Given the description of an element on the screen output the (x, y) to click on. 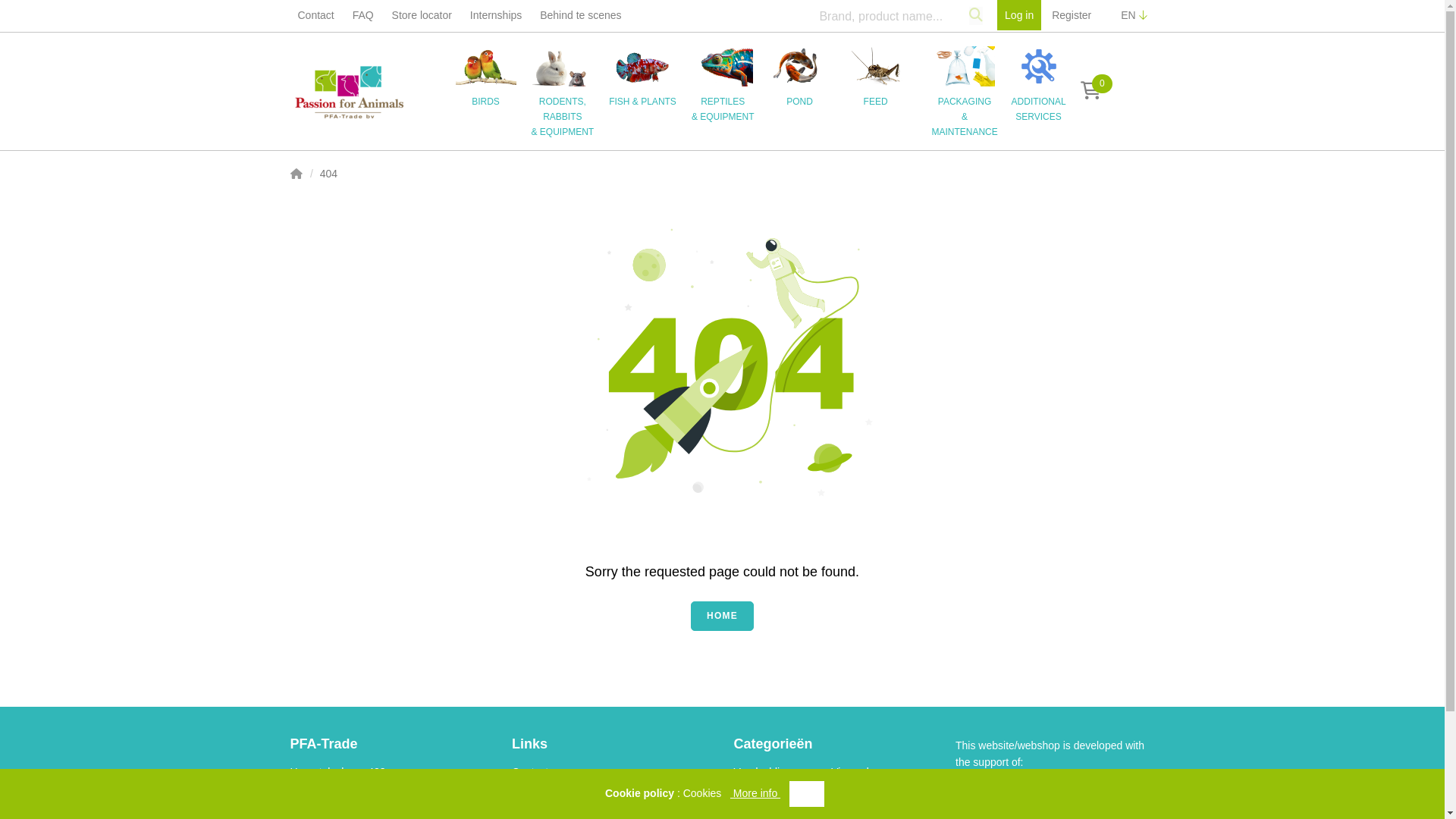
Vogels Element type: text (846, 805)
BIRDS Element type: text (492, 75)
Store locator Element type: text (421, 15)
Behind te scenes Element type: text (580, 15)
More info Element type: text (755, 793)
RODENTS,
RABBITS
& EQUIPMENT Element type: text (569, 90)
PACKAGING
& MAINTENANCE Element type: text (961, 87)
FISH & PLANTS Element type: text (649, 75)
Visvoeders Element type: text (857, 771)
Internships Element type: text (495, 15)
Waterplanten Element type: text (765, 788)
ADDITIONAL
SERVICES Element type: text (1035, 79)
EN Element type: text (1133, 15)
Contact Element type: text (315, 15)
OK Element type: text (806, 793)
0 Element type: text (1090, 90)
Vissen Element type: text (846, 788)
Accessoires Element type: text (762, 805)
Log in Element type: text (1019, 15)
Nieuws Element type: text (528, 796)
POND Element type: text (807, 75)
HOME Element type: text (721, 615)
FAQ Element type: text (363, 15)
Register Element type: text (1071, 15)
FEED Element type: text (883, 75)
Voedseldieren Element type: text (767, 771)
Passion for animals Element type: hover (349, 91)
REPTILES
& EQUIPMENT Element type: text (730, 83)
Contact Element type: text (529, 771)
